Given the description of an element on the screen output the (x, y) to click on. 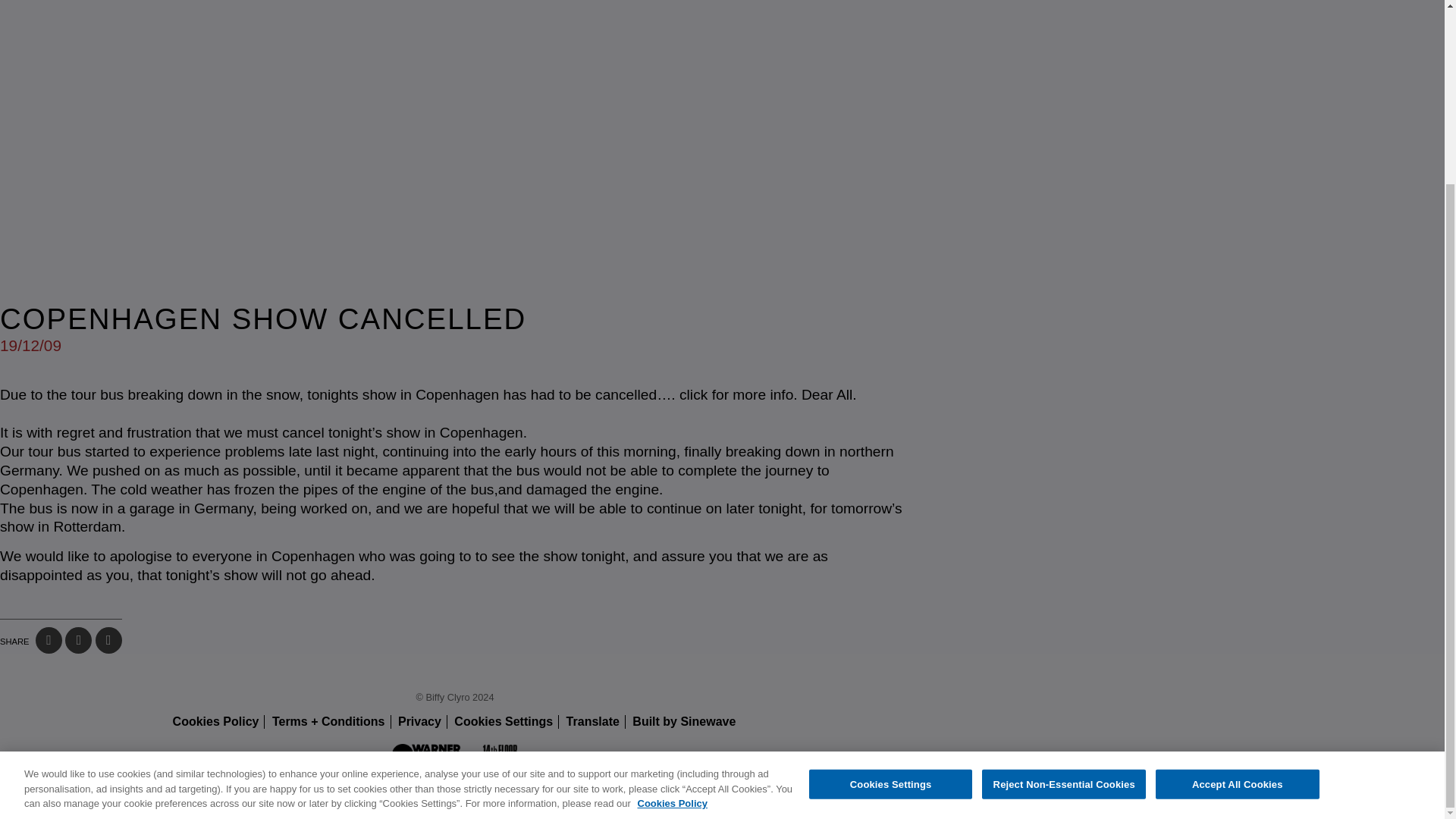
MUSIC (738, 568)
Warner Records UK (429, 758)
Translate (593, 721)
Accept All Cookies (1237, 557)
NEWS (607, 568)
Cookies Settings (890, 557)
Cookies Policy (671, 576)
Privacy Policy (419, 721)
Cookies Policy (216, 721)
LIVE (671, 568)
Cookies Settings (503, 721)
HOME (537, 568)
Privacy (419, 721)
VIDEOS (819, 568)
14th Floor Records (498, 758)
